Given the description of an element on the screen output the (x, y) to click on. 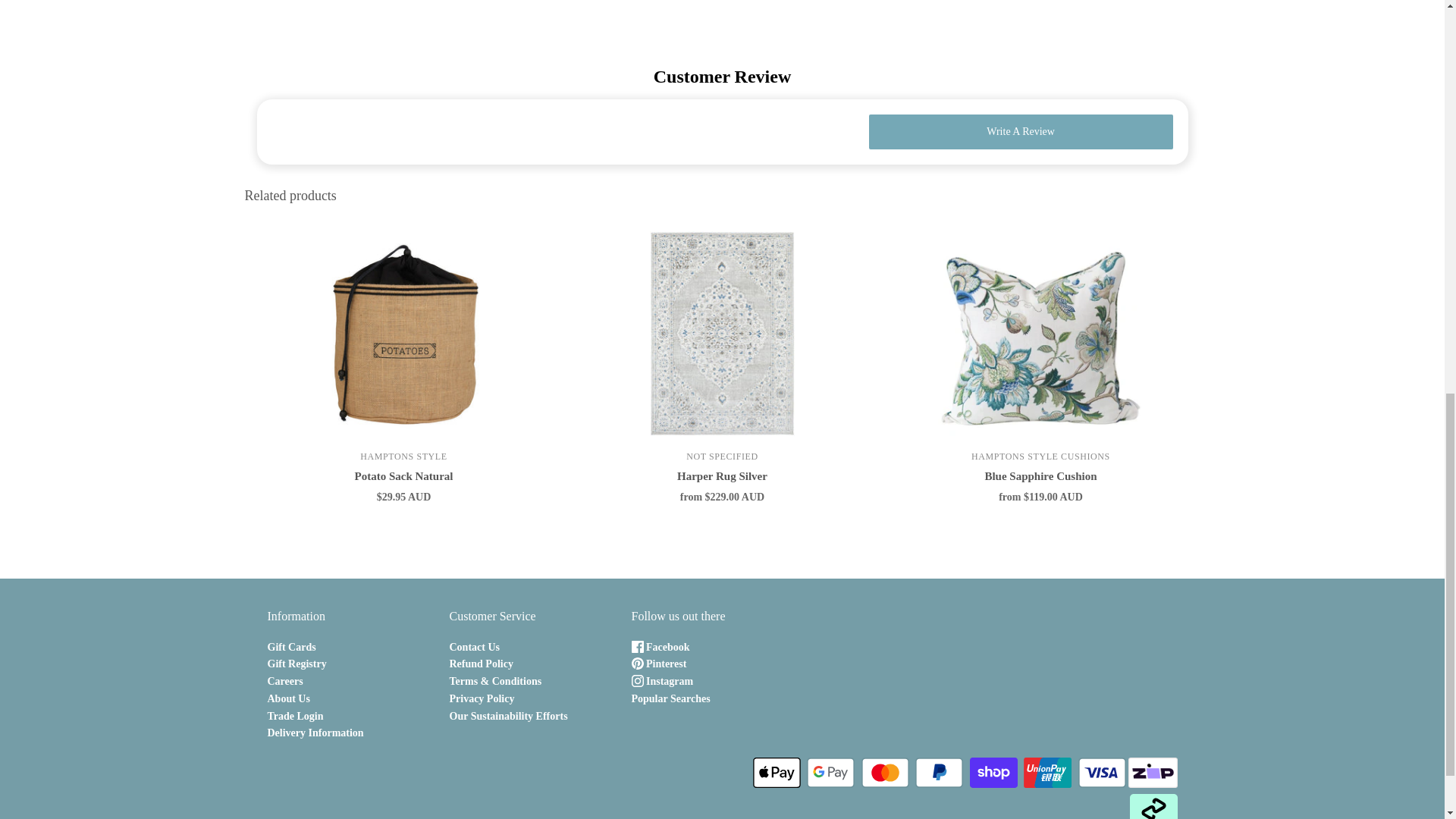
Instagram (661, 681)
Google Pay (830, 772)
Mastercard (884, 772)
Hamptons Style (402, 456)
Union Pay (1047, 772)
Pinterest (657, 663)
PayPal (938, 772)
Apple Pay (776, 772)
Visa (1101, 772)
hamptons style cushions (1040, 456)
Facebook (659, 646)
Shop Pay (993, 772)
Not specified (721, 456)
